Given the description of an element on the screen output the (x, y) to click on. 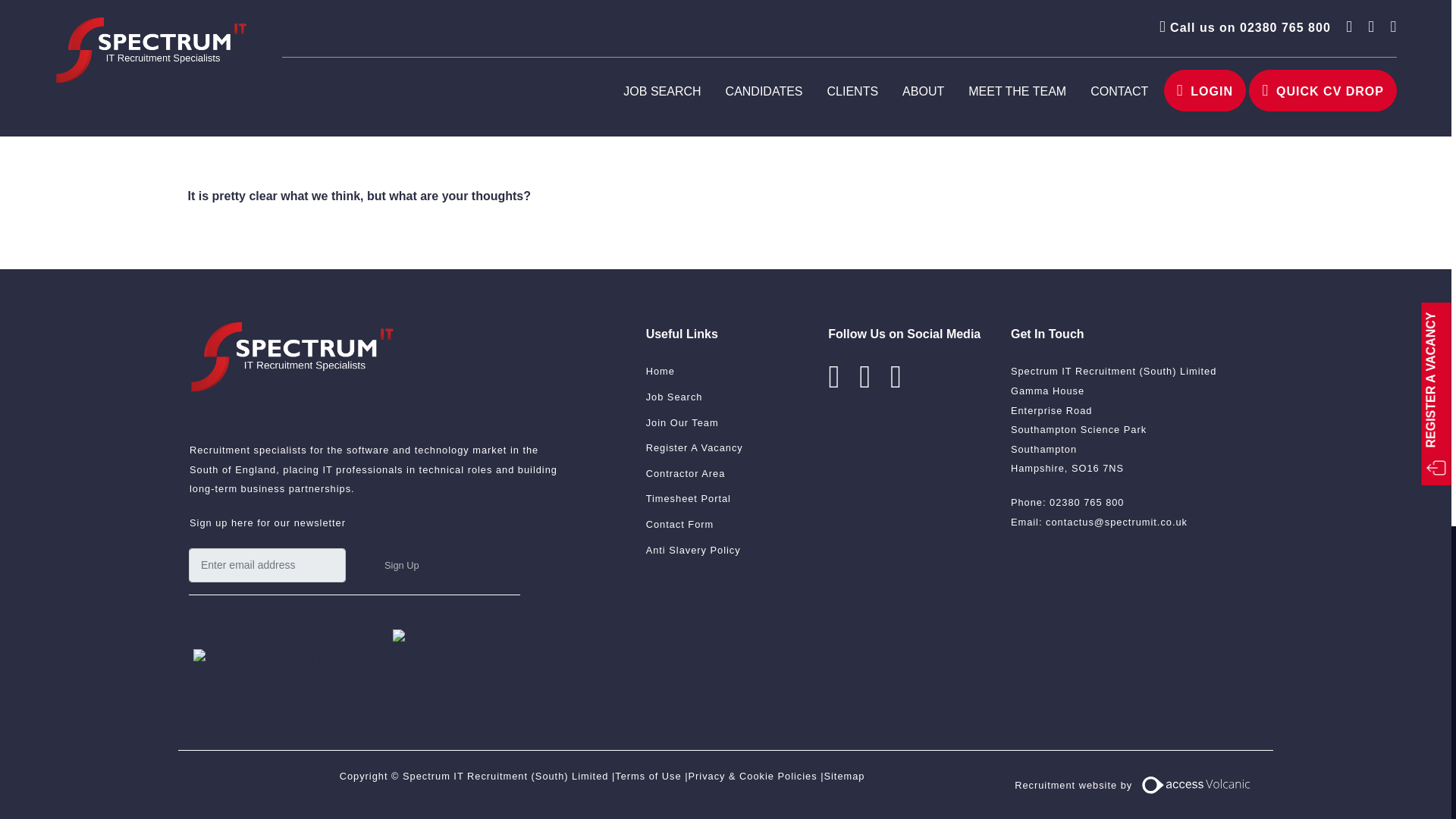
Sign Up (401, 565)
